Given the description of an element on the screen output the (x, y) to click on. 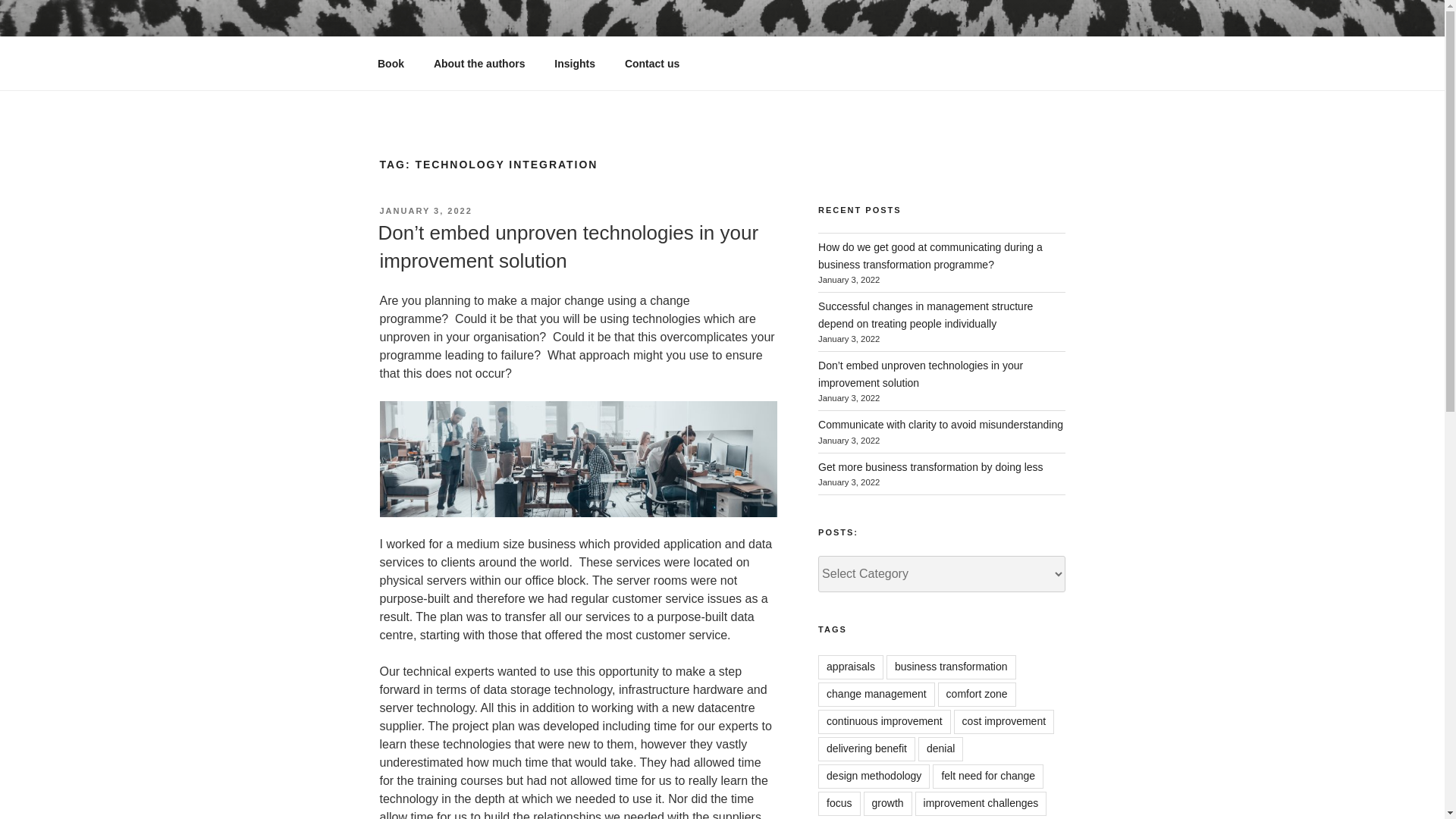
change management (876, 694)
appraisals (850, 667)
business transformation (951, 667)
denial (940, 749)
design methodology (874, 776)
continuous improvement (884, 721)
Contact us (652, 63)
felt need for change (988, 776)
Insights (574, 63)
